Given the description of an element on the screen output the (x, y) to click on. 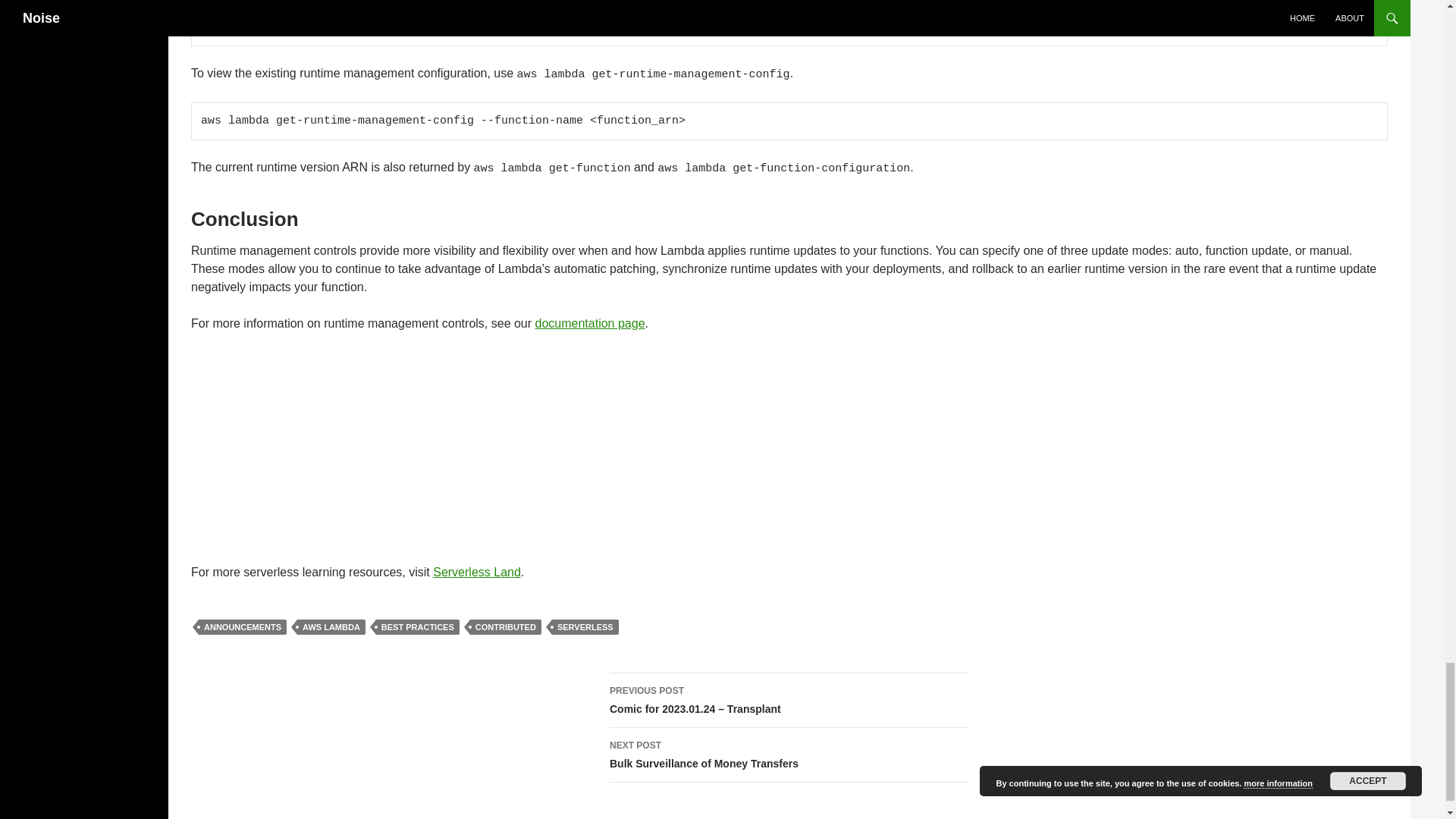
AWS LAMBDA (331, 626)
Serverless Land (476, 571)
documentation page (590, 323)
CONTRIBUTED (505, 626)
BEST PRACTICES (417, 626)
ANNOUNCEMENTS (242, 626)
SERVERLESS (789, 755)
